Given the description of an element on the screen output the (x, y) to click on. 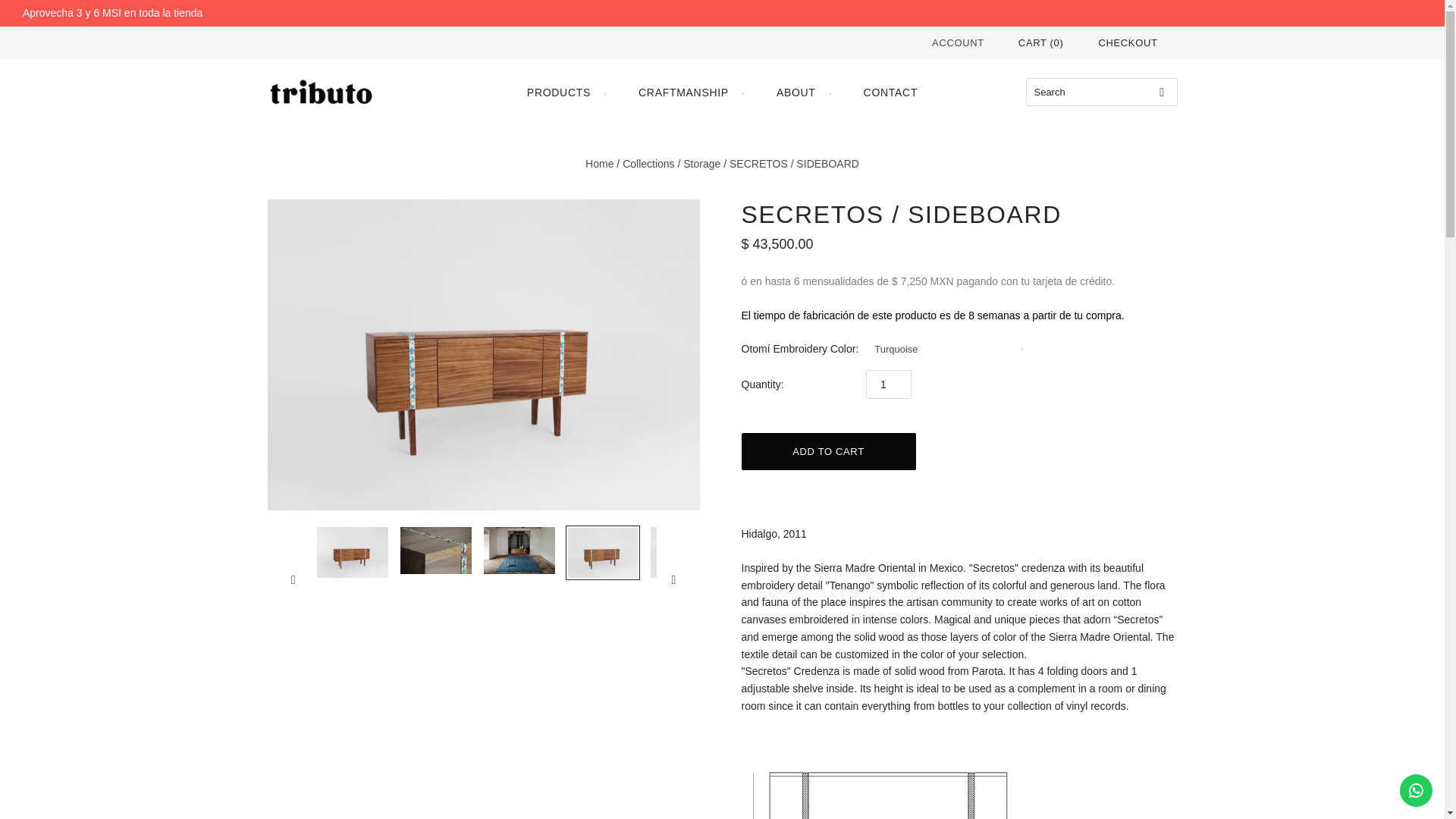
CHECKOUT (1127, 42)
ACCOUNT (957, 42)
1 (888, 384)
CONTACT (890, 92)
Add to cart (828, 451)
